Given the description of an element on the screen output the (x, y) to click on. 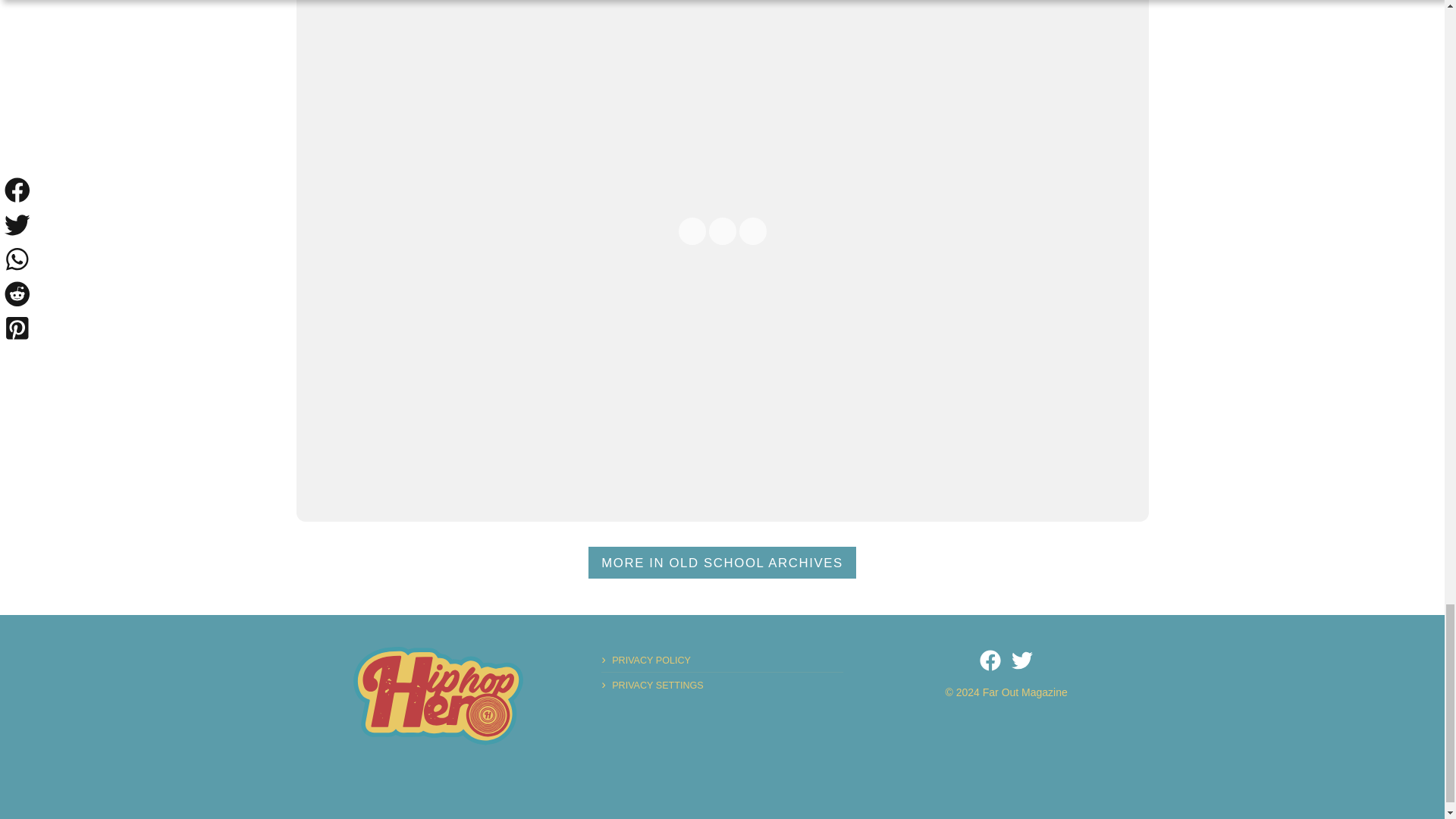
Hip Hop Hero on Facebook (990, 660)
Hip Hop Hero (438, 696)
Hip Hop Hero on Twitter (1021, 660)
More in Old School Archives (722, 562)
